Given the description of an element on the screen output the (x, y) to click on. 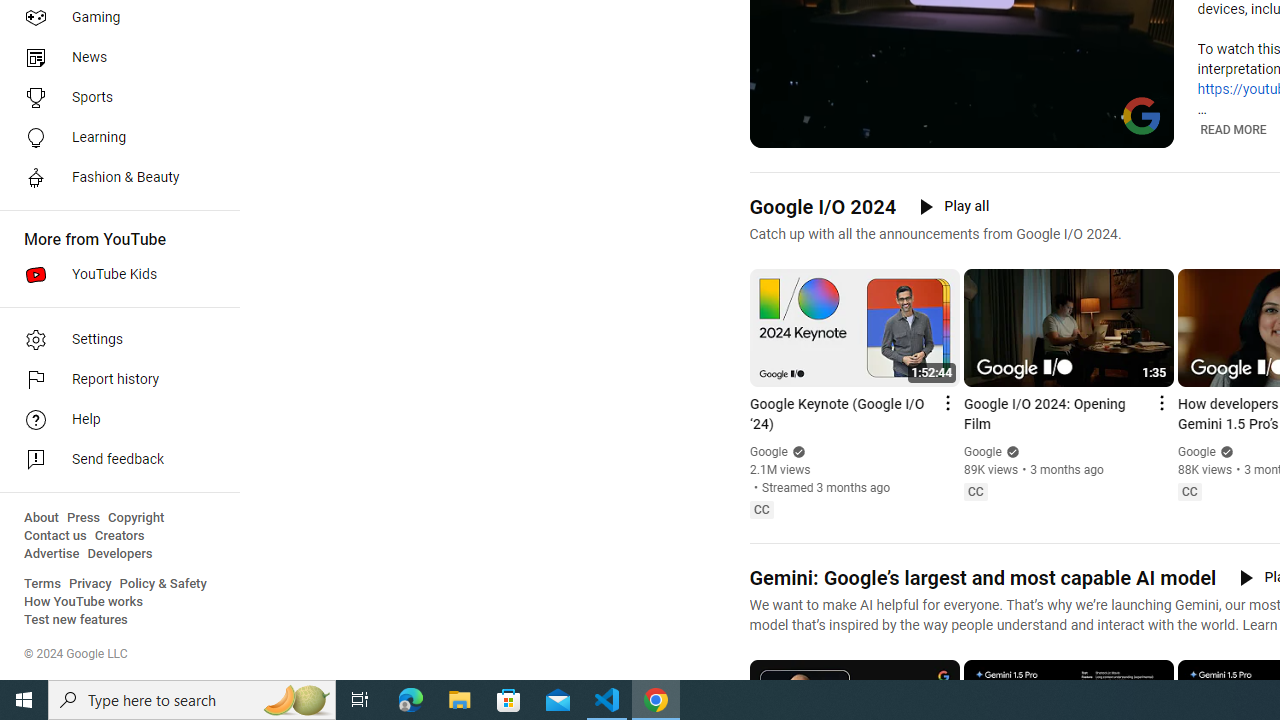
Report history (113, 380)
Contact us (55, 536)
How YouTube works (83, 602)
Full screen (f) (1143, 130)
Subtitles/closed captions unavailable (1071, 130)
Advertise (51, 554)
Developers (120, 554)
MadeByGoogle '24: Intro (985, 130)
Pause (k) (779, 130)
READ MORE (1232, 129)
